Given the description of an element on the screen output the (x, y) to click on. 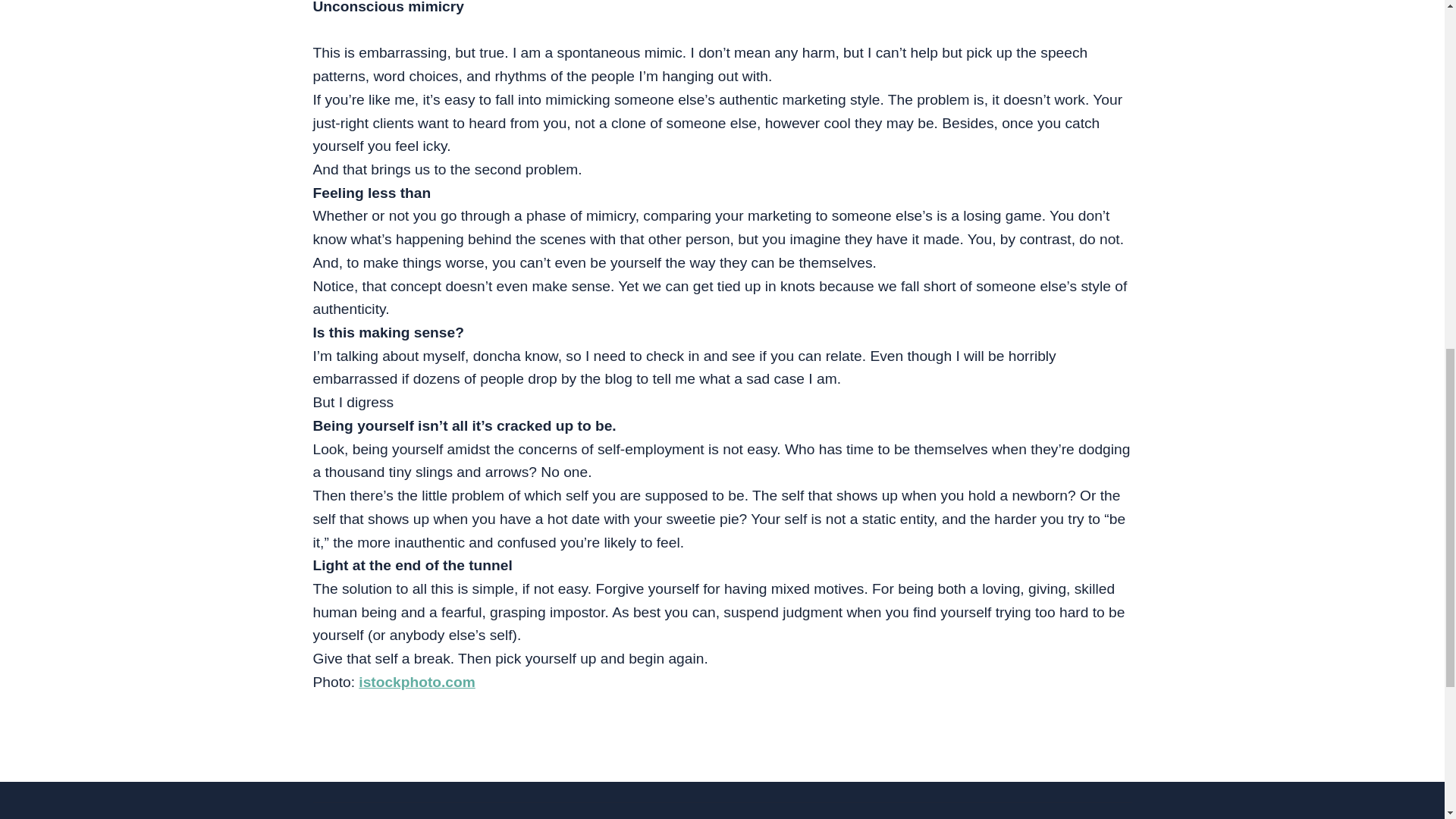
istockphoto.com (417, 682)
